Given the description of an element on the screen output the (x, y) to click on. 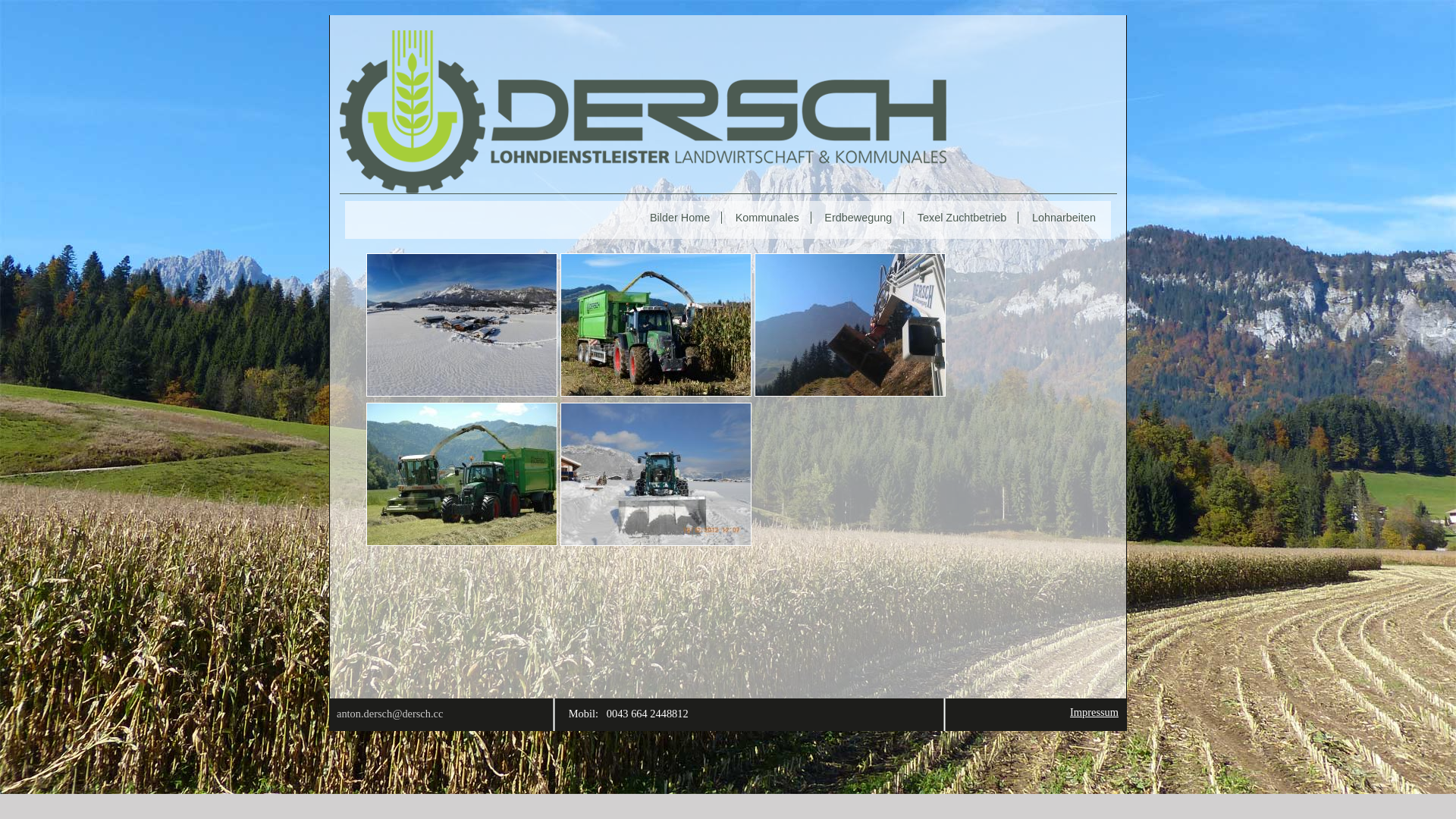
anton.dersch@dersch.cc Element type: text (389, 713)
Erdbewegung Element type: text (861, 217)
Impressum Element type: text (1094, 712)
Bilder Home Element type: text (683, 217)
Texel Zuchtbetrieb Element type: text (966, 217)
Lohnarbeiten Element type: text (1067, 217)
Kommunales Element type: text (771, 217)
